Given the description of an element on the screen output the (x, y) to click on. 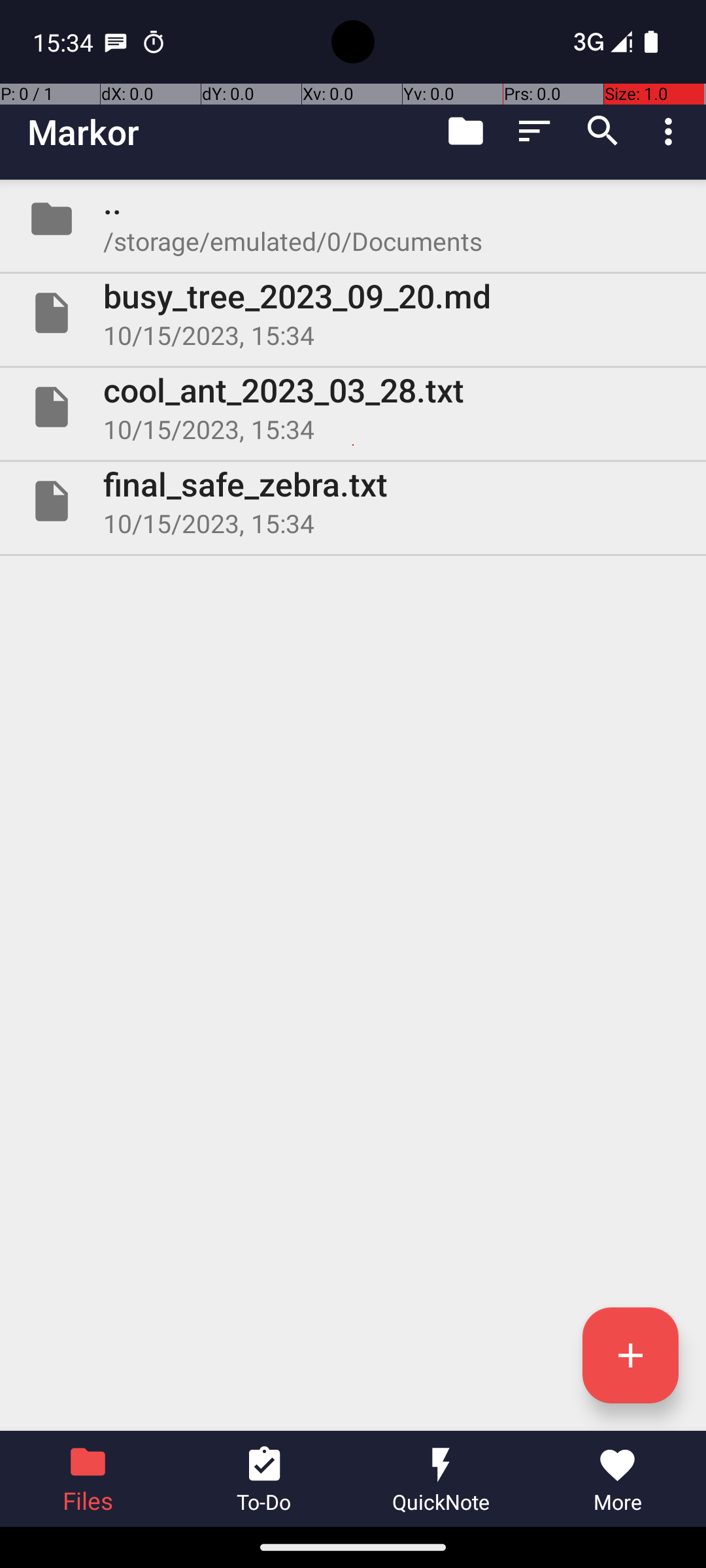
File busy_tree_2023_09_20.md  Element type: android.widget.LinearLayout (353, 312)
File cool_ant_2023_03_28.txt  Element type: android.widget.LinearLayout (353, 406)
File final_safe_zebra.txt  Element type: android.widget.LinearLayout (353, 500)
